Given the description of an element on the screen output the (x, y) to click on. 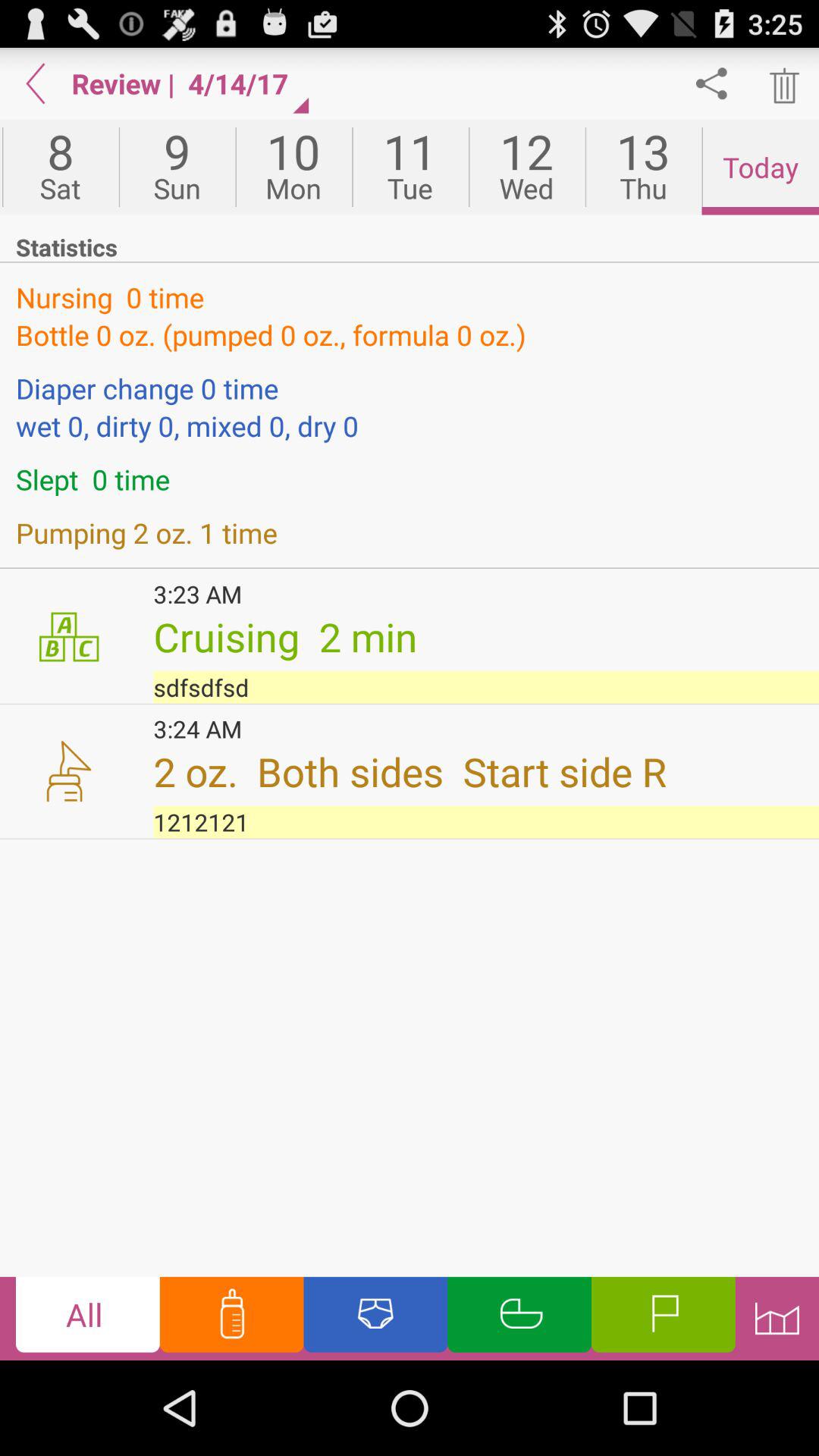
launch the app next to 12 icon (643, 166)
